Given the description of an element on the screen output the (x, y) to click on. 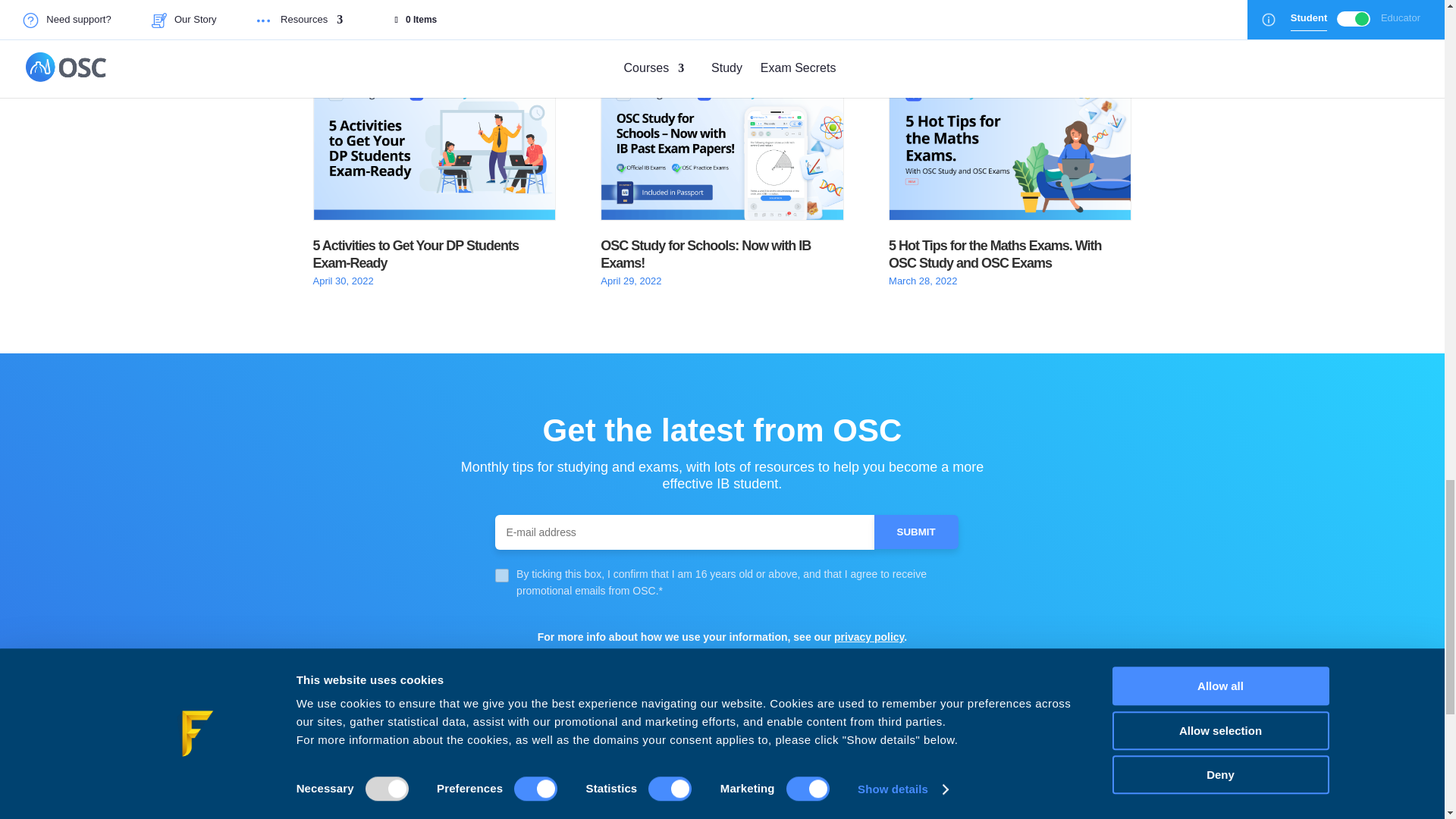
true (501, 575)
SUBMIT (915, 531)
